Given the description of an element on the screen output the (x, y) to click on. 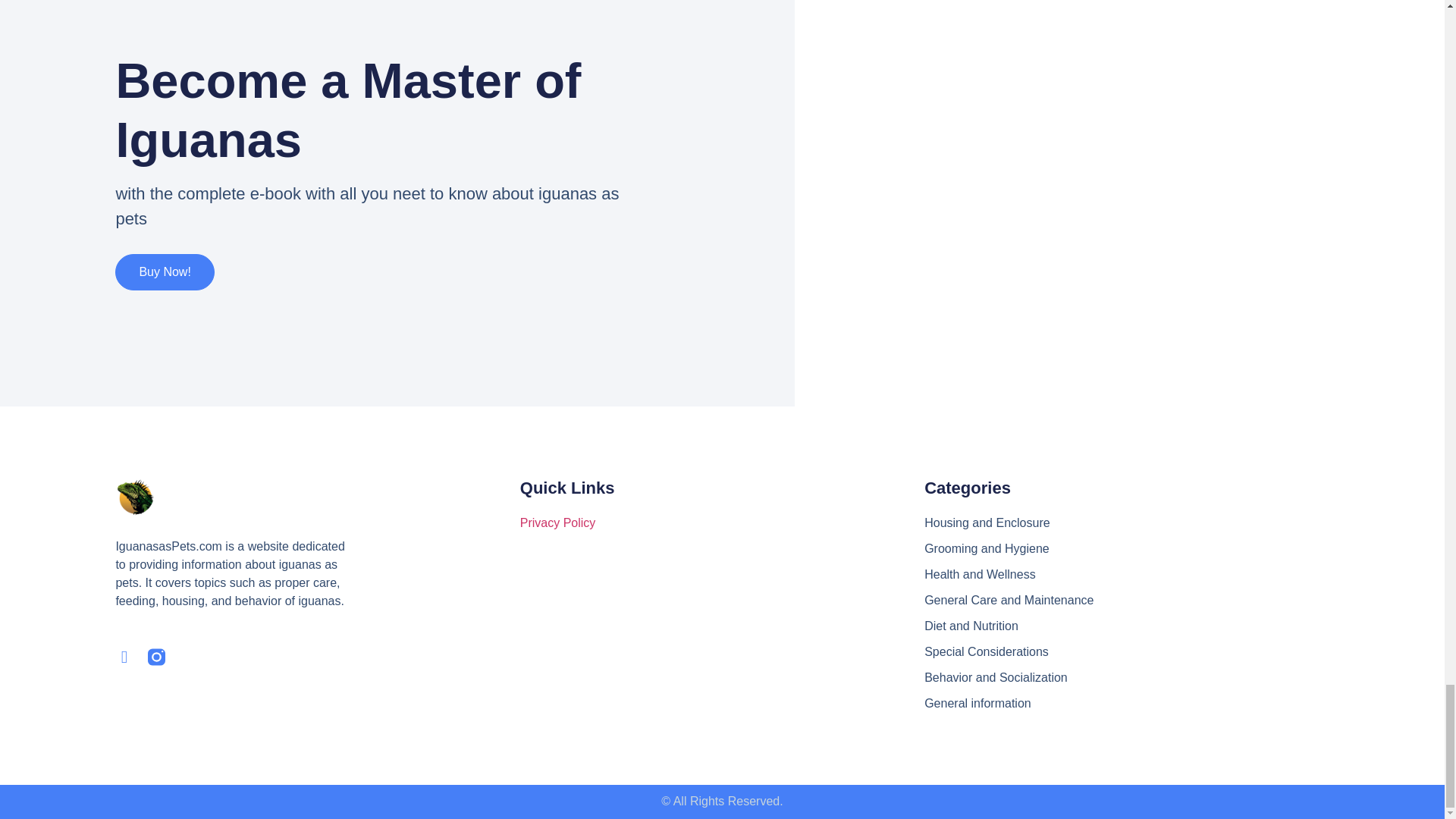
Buy Now! (164, 271)
